Given the description of an element on the screen output the (x, y) to click on. 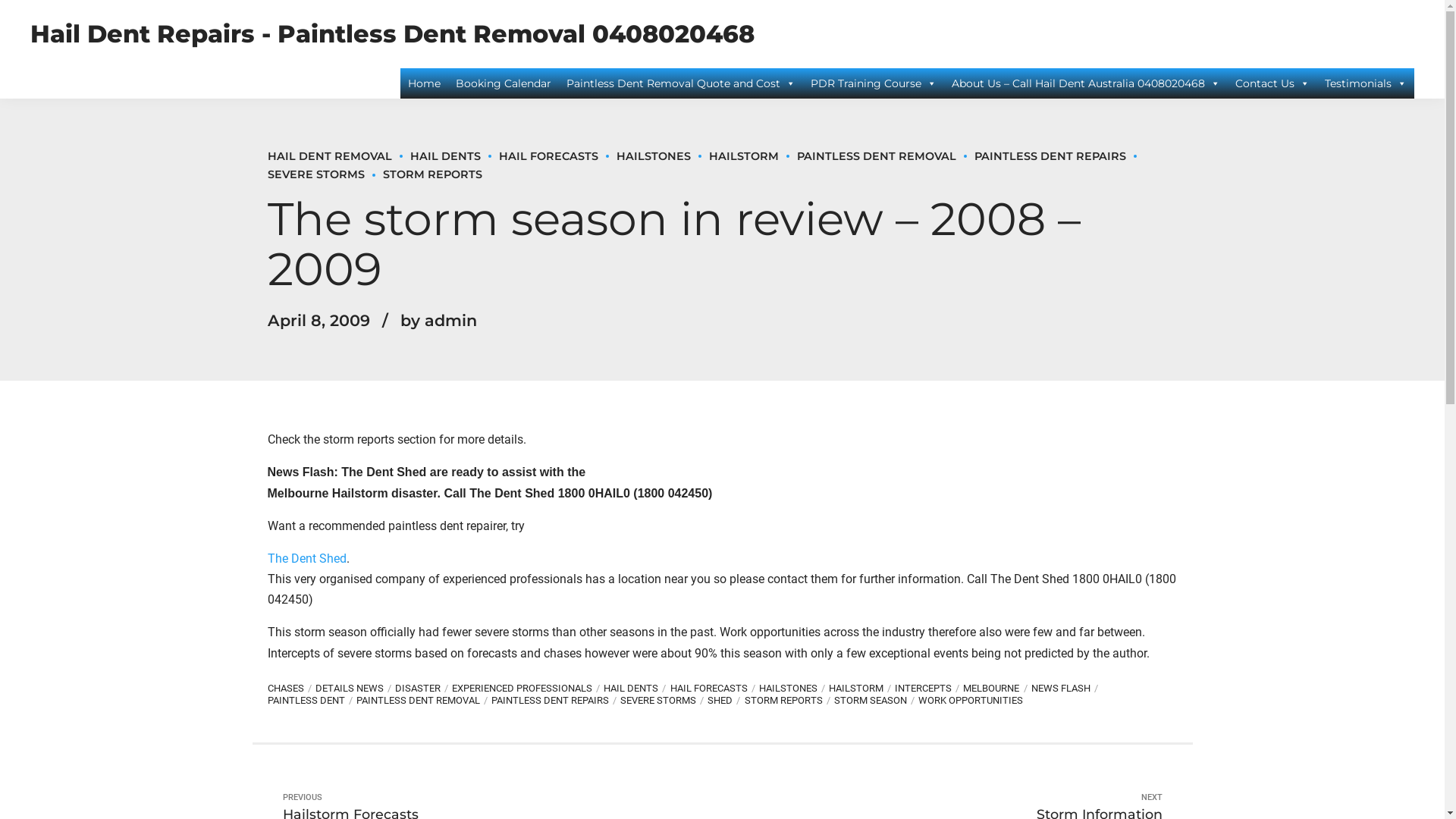
HAIL DENT REMOVAL Element type: text (328, 156)
Testimonials Element type: text (1365, 83)
SEVERE STORMS Element type: text (704, 165)
PAINTLESS DENT REMOVAL Element type: text (866, 156)
HAIL FORECASTS Element type: text (714, 687)
DETAILS NEWS Element type: text (355, 687)
HAIL FORECASTS Element type: text (539, 156)
MELBOURNE Element type: text (996, 687)
STORM REPORTS Element type: text (789, 700)
by admin Element type: text (438, 319)
HAILSTONES Element type: text (643, 156)
Contact Us Element type: text (1272, 83)
PAINTLESS DENT Element type: text (310, 700)
STORM REPORTS Element type: text (422, 174)
Booking Calendar Element type: text (503, 83)
PAINTLESS DENT REMOVAL Element type: text (423, 700)
NEWS FLASH Element type: text (1066, 687)
INTERCEPTS Element type: text (928, 687)
CHASES Element type: text (290, 687)
The Dent Shed Element type: text (305, 558)
SHED Element type: text (725, 700)
PAINTLESS DENT REPAIRS Element type: text (1040, 156)
PDR Training Course Element type: text (873, 83)
Home Element type: text (424, 83)
HAILSTORM Element type: text (861, 687)
PAINTLESS DENT REPAIRS Element type: text (555, 700)
Hail Dent Repairs - Paintless Dent Removal 0408020468 Element type: text (392, 33)
Paintless Dent Removal Quote and Cost Element type: text (680, 83)
EXPERIENCED PROFESSIONALS Element type: text (527, 687)
HAILSTONES Element type: text (793, 687)
HAIL DENTS Element type: text (435, 156)
HAIL DENTS Element type: text (636, 687)
WORK OPPORTUNITIES Element type: text (970, 700)
DISASTER Element type: text (423, 687)
STORM SEASON Element type: text (876, 700)
HAILSTORM Element type: text (734, 156)
SEVERE STORMS Element type: text (663, 700)
